Given the description of an element on the screen output the (x, y) to click on. 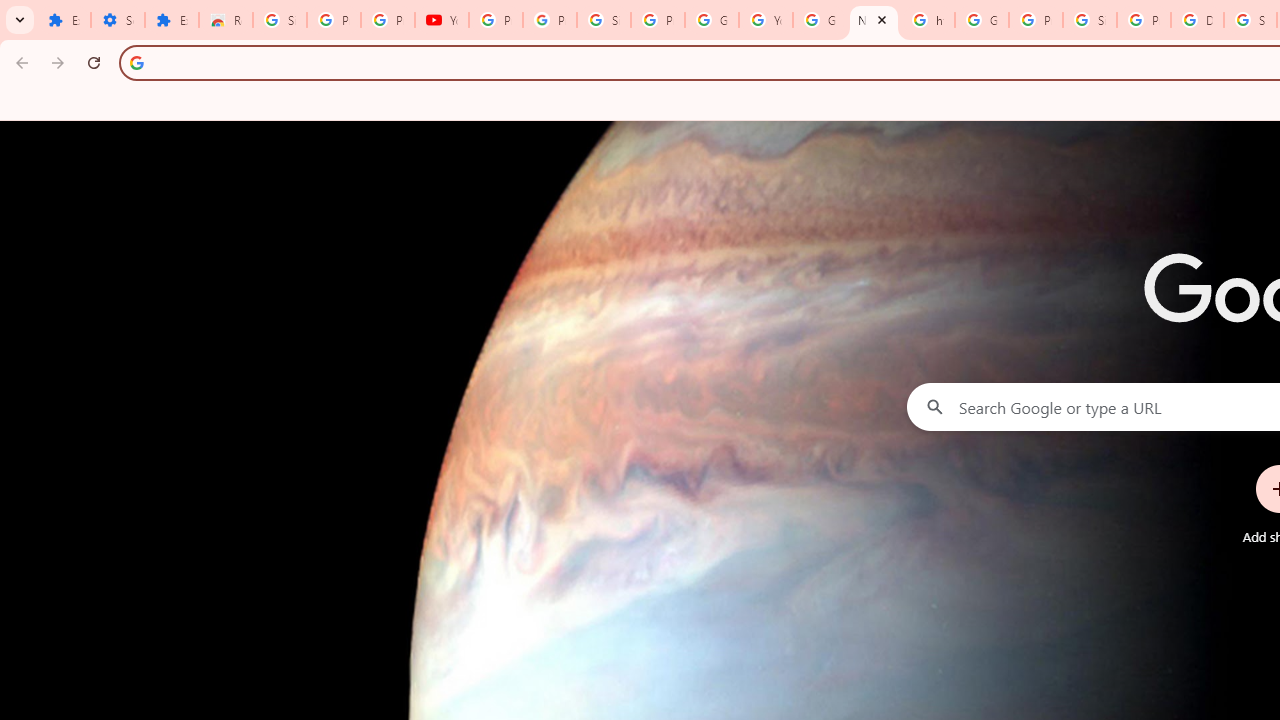
https://scholar.google.com/ (927, 20)
New Tab (874, 20)
Sign in - Google Accounts (280, 20)
YouTube (441, 20)
Search icon (136, 62)
Delete specific Google services or your Google Account (1197, 20)
